Given the description of an element on the screen output the (x, y) to click on. 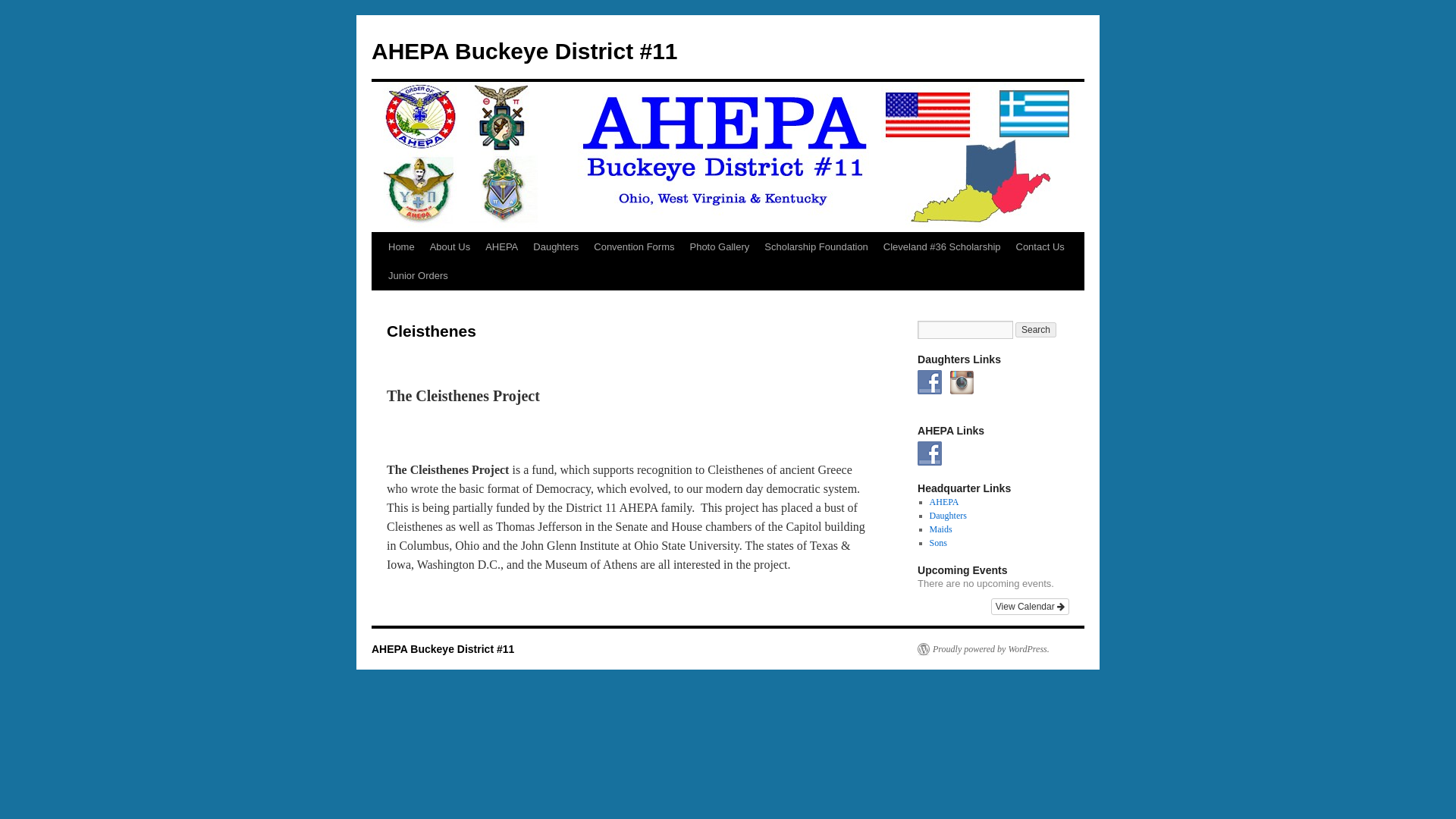
Contact Us (1040, 246)
Junior Orders (417, 275)
Follow Us on Facebook (929, 453)
About Us (449, 246)
Convention Forms (633, 246)
Daughters (555, 246)
Follow Us on Facebook (929, 381)
Home (401, 246)
AHEPA (501, 246)
Follow Us on Instagram (961, 381)
